Given the description of an element on the screen output the (x, y) to click on. 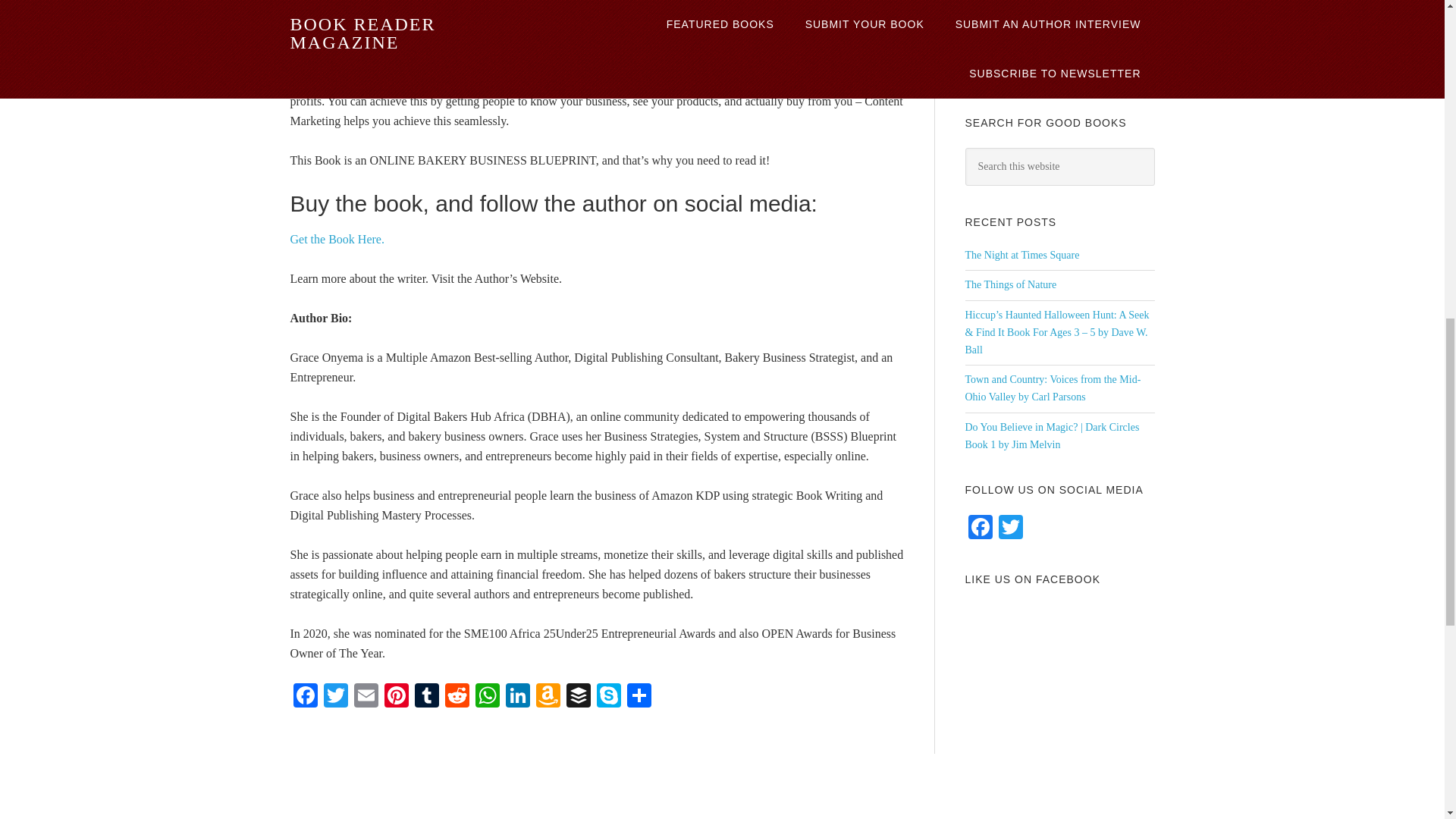
Twitter (335, 696)
Email (365, 696)
Skype (607, 696)
Twitter (335, 696)
Reddit (456, 696)
LinkedIn (517, 696)
Tumblr (425, 696)
Buffer (577, 696)
Skype (607, 696)
